Given the description of an element on the screen output the (x, y) to click on. 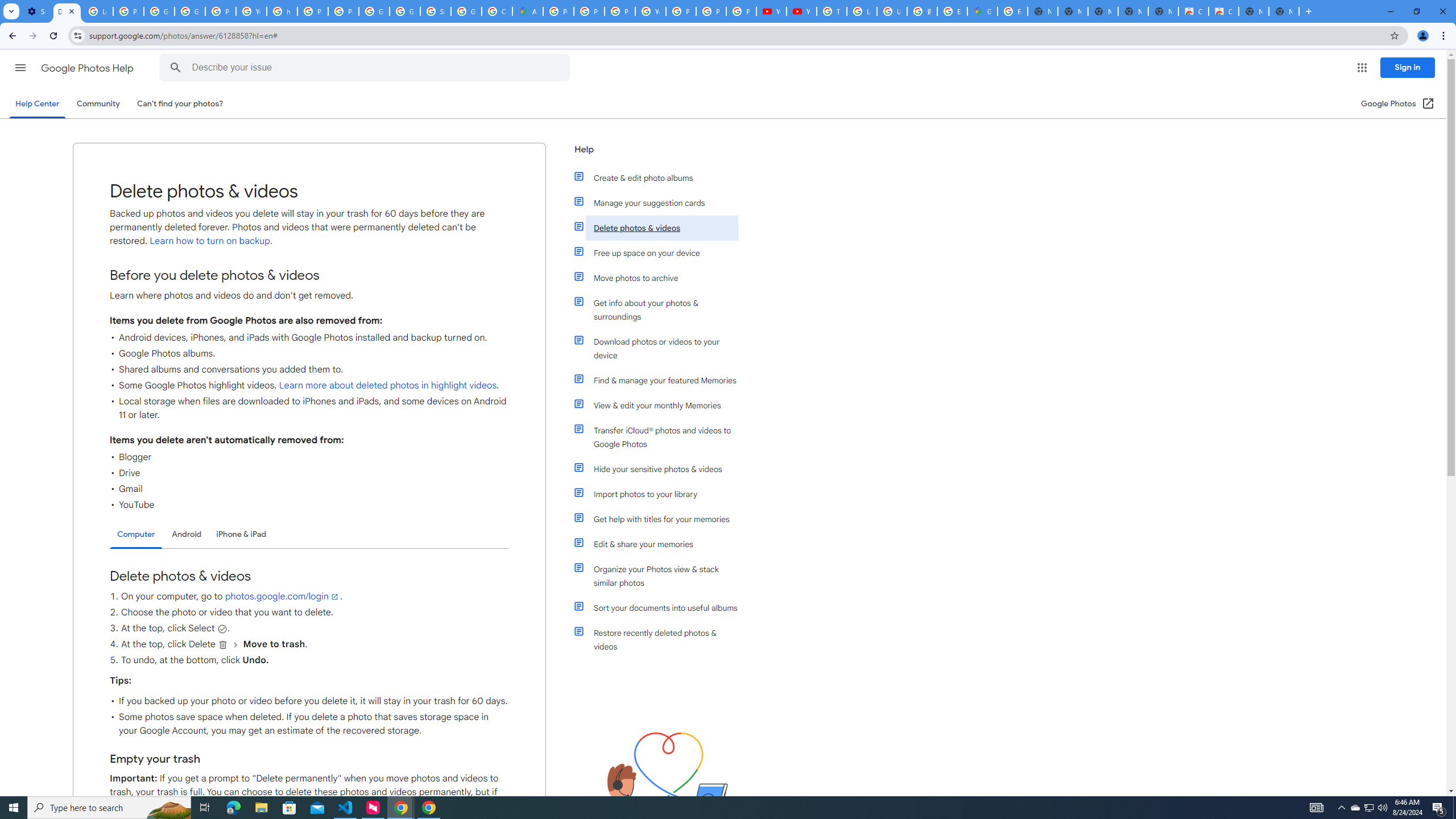
Restore recently deleted photos & videos (661, 639)
Learn more about deleted photos in highlight videos (387, 385)
YouTube (801, 11)
Community (97, 103)
Google Photos (Open in a new window) (1397, 103)
Android (186, 533)
Get info about your photos & surroundings (661, 309)
